Given the description of an element on the screen output the (x, y) to click on. 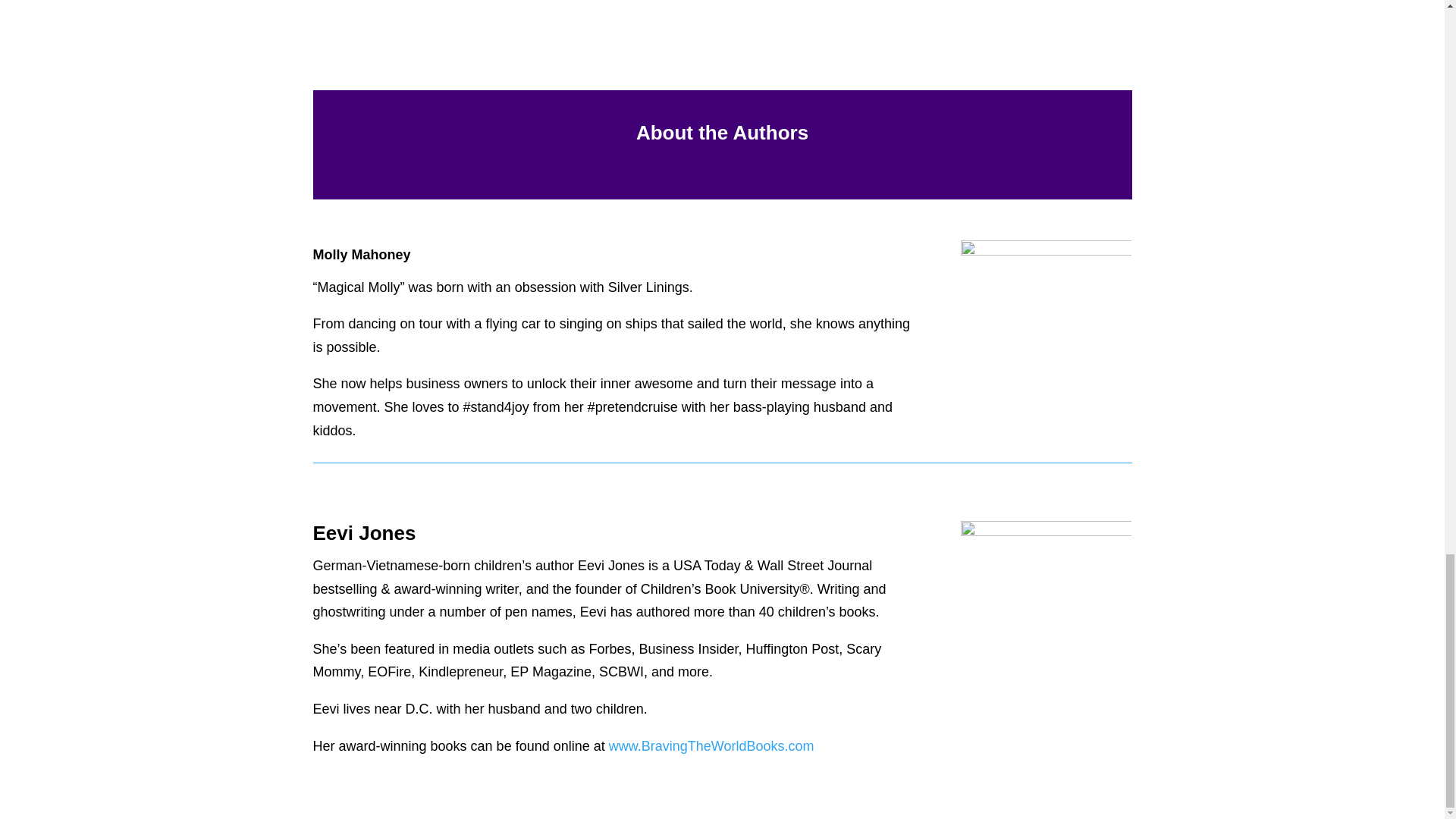
Eevi Jones (1045, 606)
Molly Mahoney (1045, 295)
www.BravingTheWorldBooks.com (710, 745)
